Given the description of an element on the screen output the (x, y) to click on. 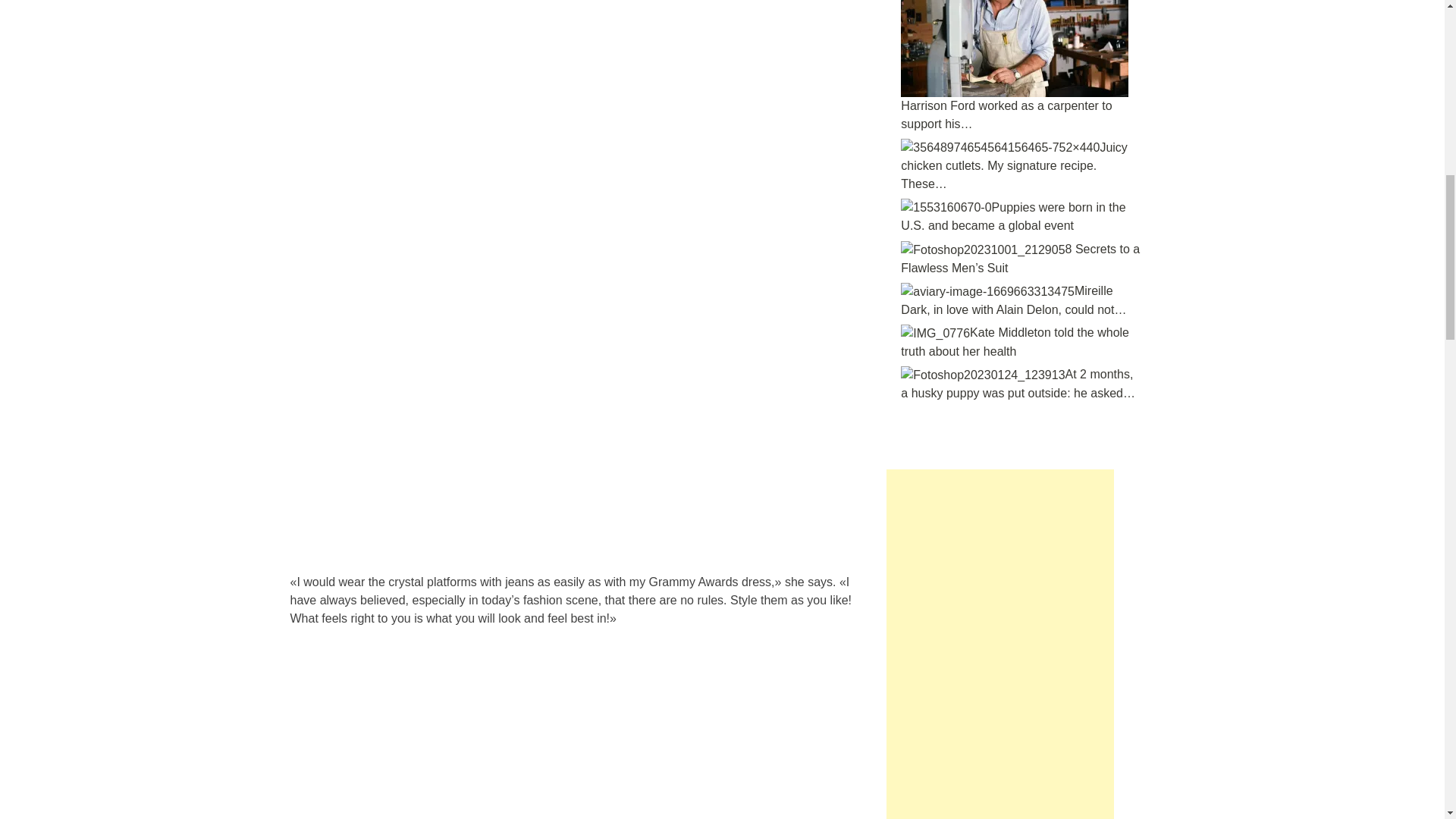
Puppies were born in the U.S. and became a global event (946, 208)
8 Secrets to a Flawless Men's Suit (982, 249)
Puppies were born in the U.S. and became a global event (1013, 216)
